Given the description of an element on the screen output the (x, y) to click on. 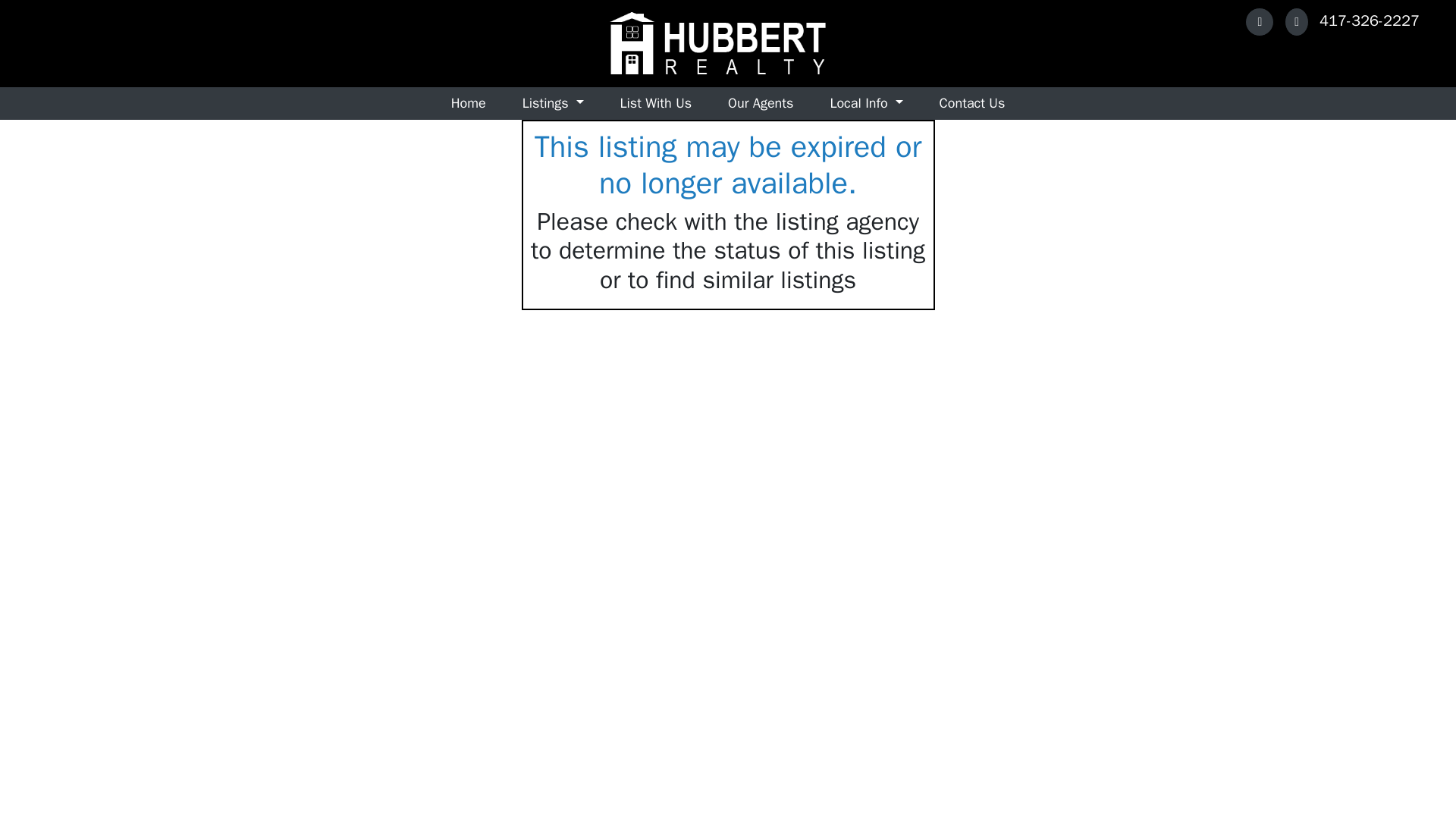
List With Us (656, 103)
Listings (552, 103)
Home (467, 103)
Local Info (865, 103)
Our Agents (760, 103)
Contact Us (972, 103)
